Given the description of an element on the screen output the (x, y) to click on. 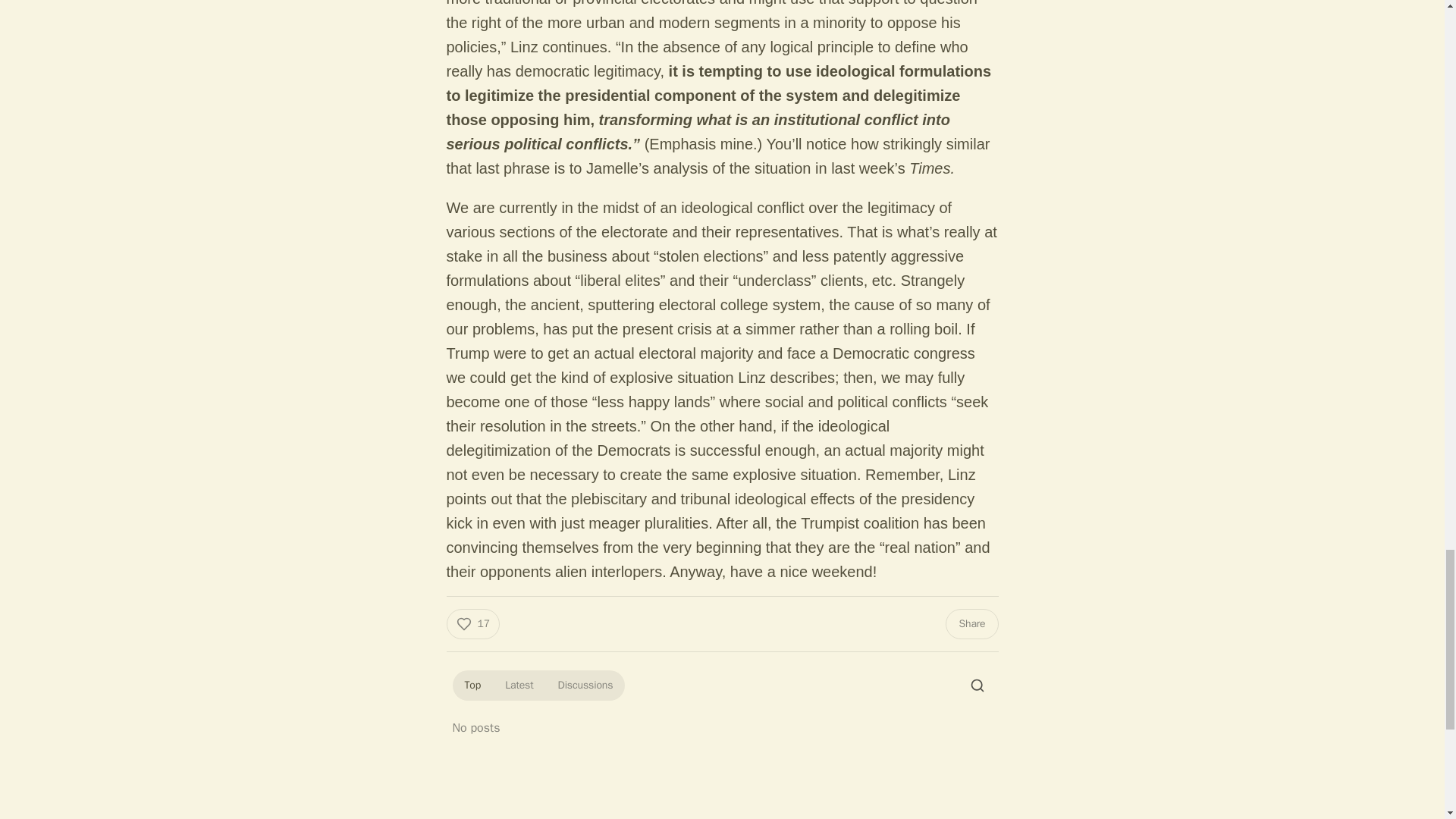
Discussions (585, 685)
Latest (518, 685)
Share (970, 624)
17 (472, 624)
Top (471, 685)
